Given the description of an element on the screen output the (x, y) to click on. 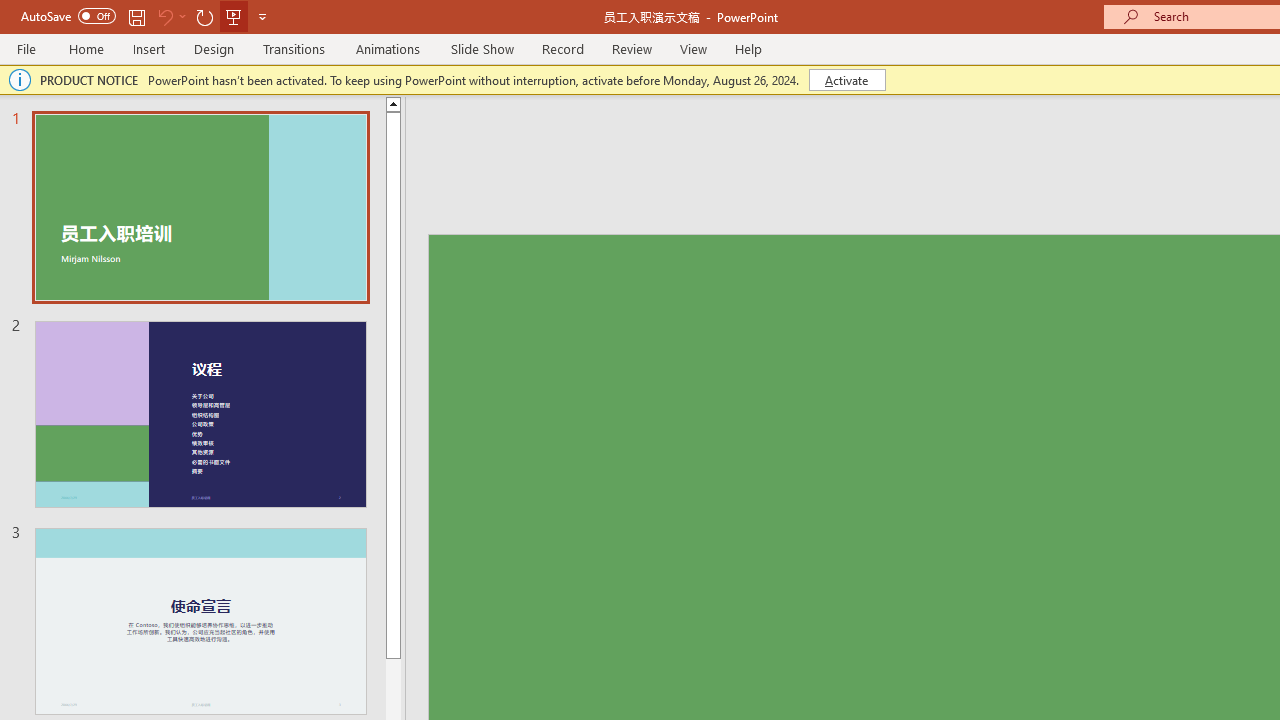
Activate (846, 79)
